Given the description of an element on the screen output the (x, y) to click on. 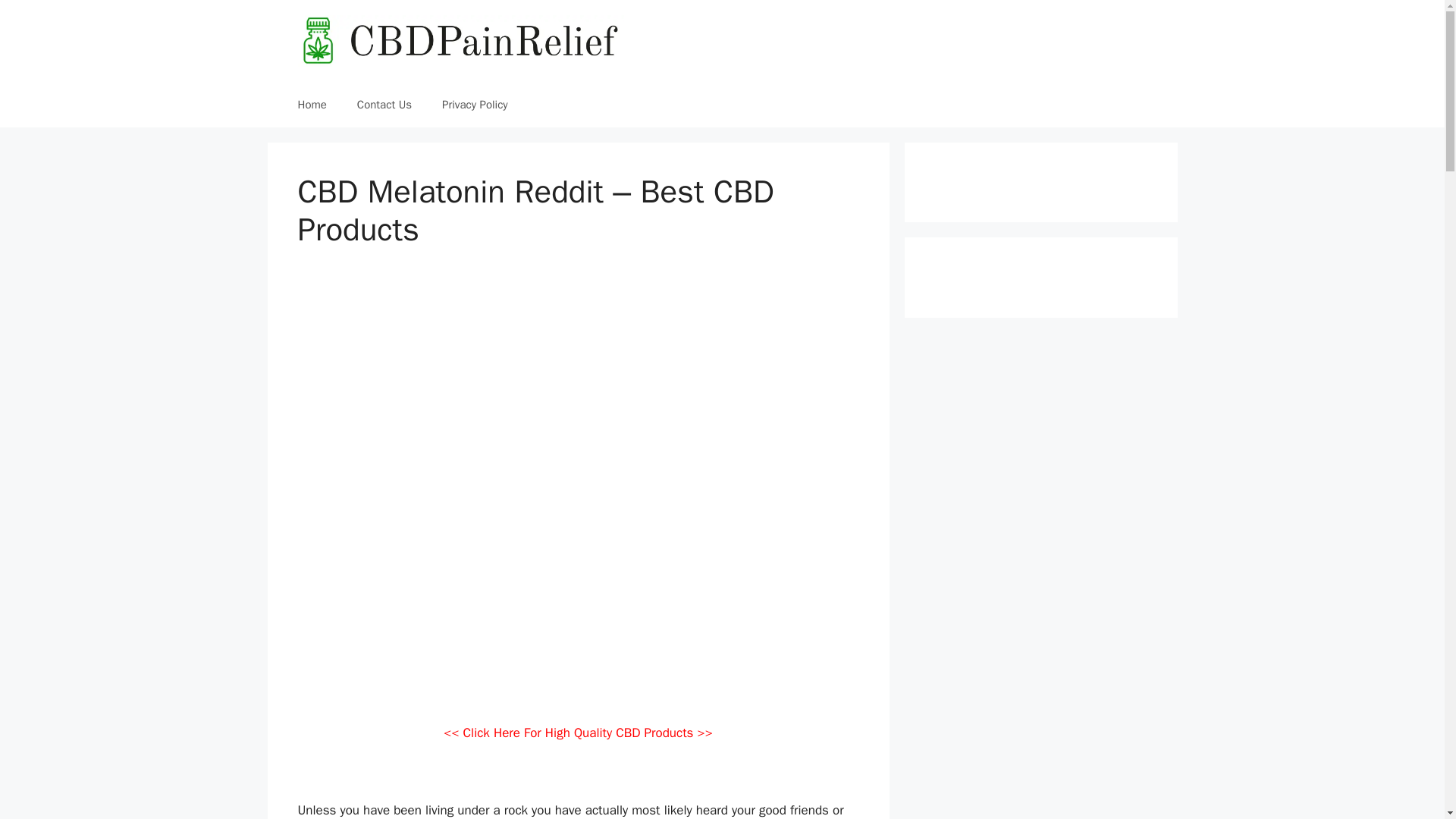
Privacy Policy (474, 104)
Home (311, 104)
Contact Us (384, 104)
CBDPainRelief (460, 39)
CBDPainRelief (460, 40)
